Given the description of an element on the screen output the (x, y) to click on. 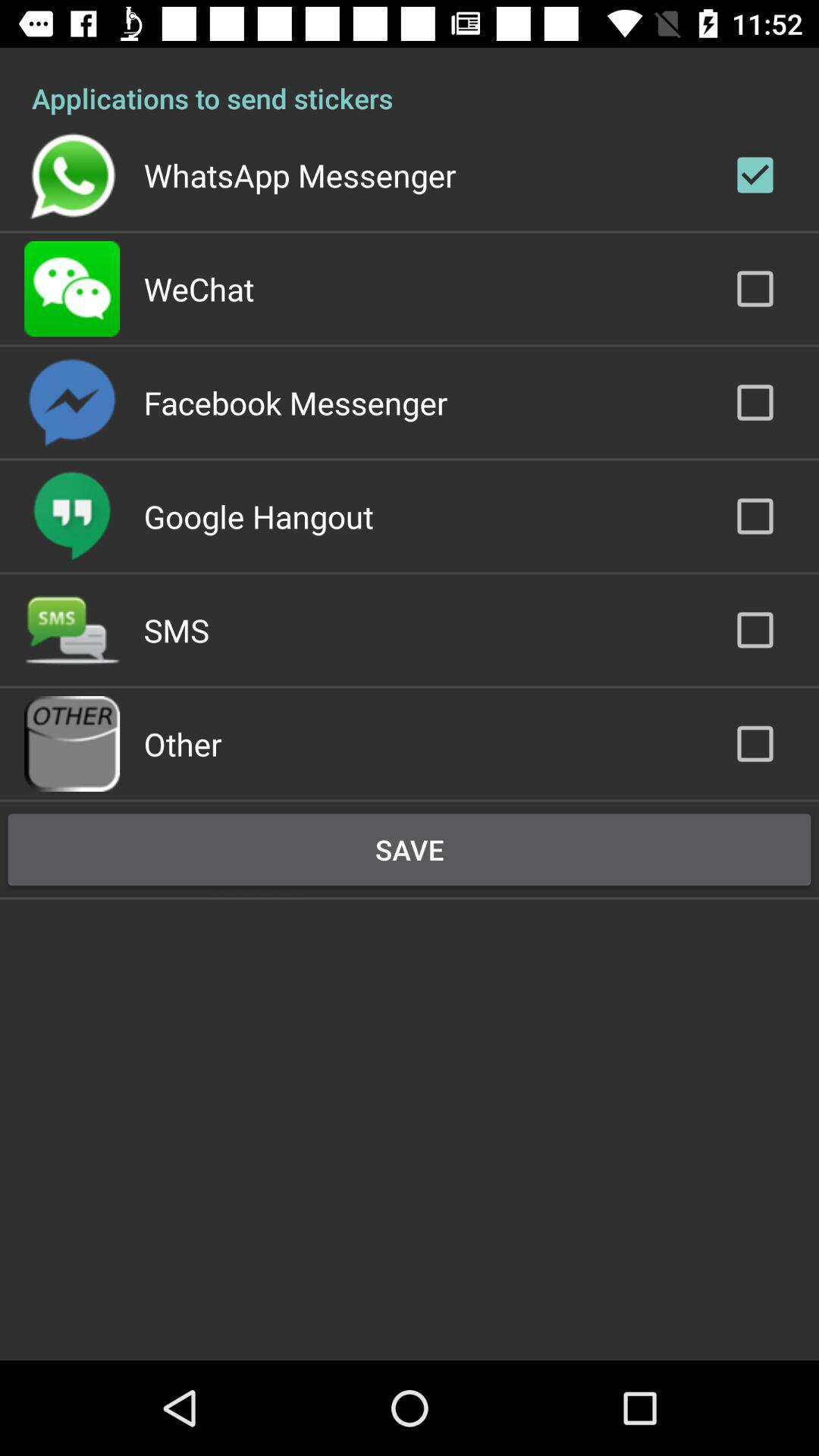
scroll to google hangout (258, 516)
